Given the description of an element on the screen output the (x, y) to click on. 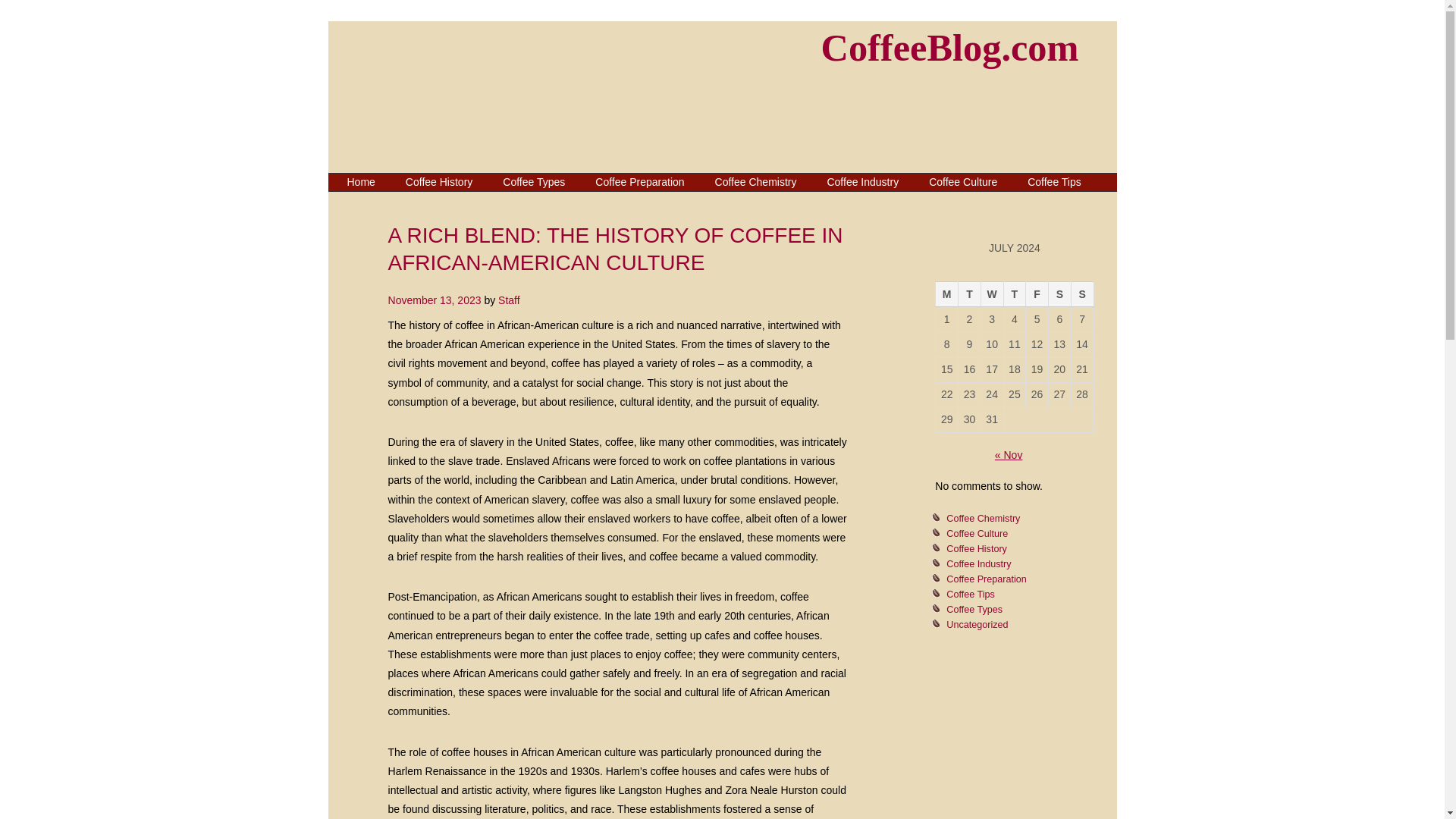
Coffee History (976, 548)
Tuesday (969, 294)
CoffeeBlog.com (949, 47)
Coffee History (438, 181)
Coffee Chemistry (983, 518)
Coffee Types (974, 609)
Coffee Culture (962, 181)
Monday (947, 294)
Sunday (1081, 294)
Friday (1037, 294)
Coffee Types (533, 181)
Thursday (1014, 294)
Coffee Industry (862, 181)
8:37 am (434, 300)
CoffeeBlog.com (949, 47)
